Given the description of an element on the screen output the (x, y) to click on. 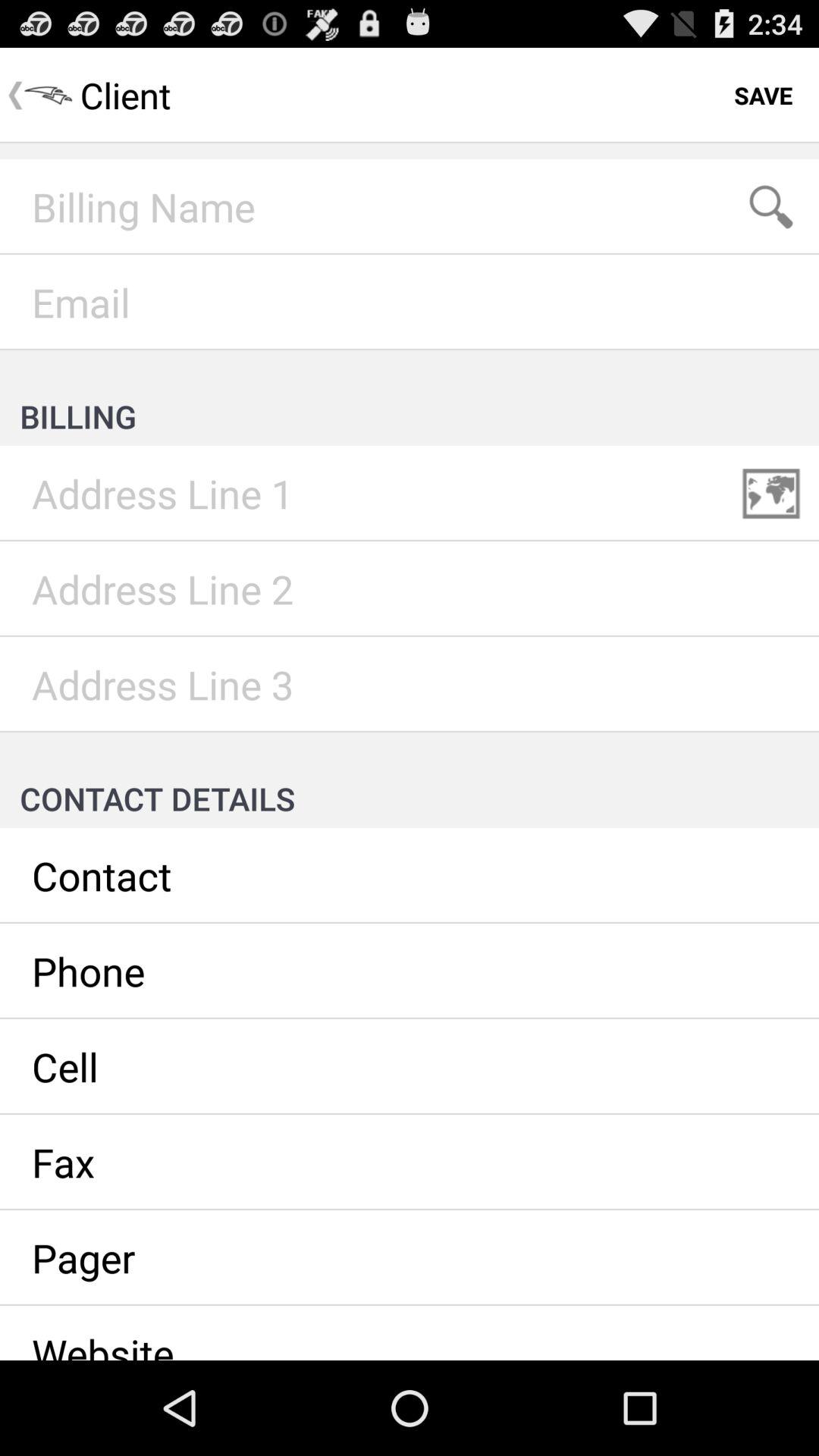
current location finder (771, 493)
